Given the description of an element on the screen output the (x, y) to click on. 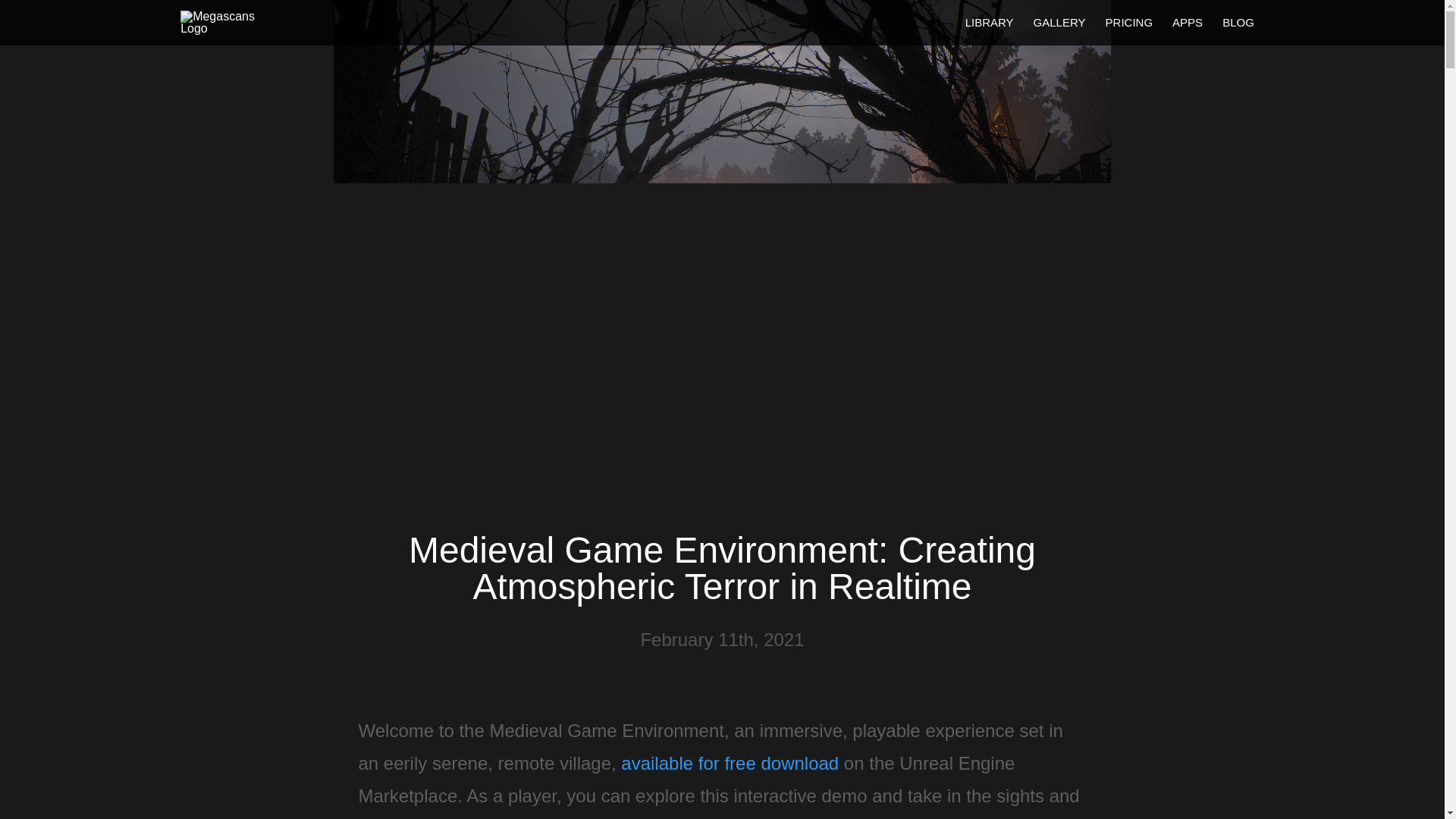
GALLERY (1059, 21)
LIBRARY (989, 21)
BLOG (1238, 21)
available for free download (729, 762)
PRICING (1129, 21)
